Given the description of an element on the screen output the (x, y) to click on. 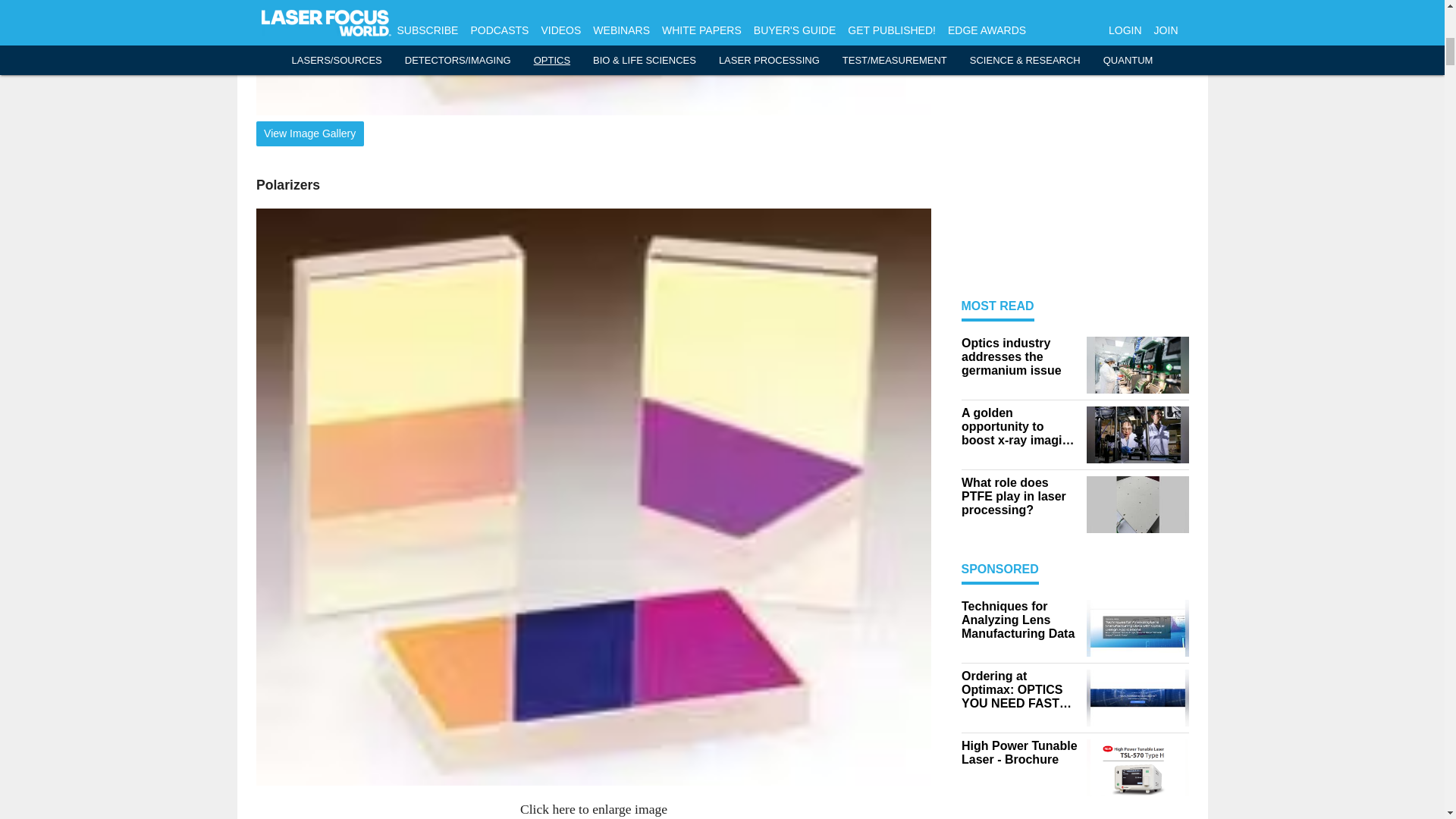
Th New Prod 1009 01 (593, 57)
